Given the description of an element on the screen output the (x, y) to click on. 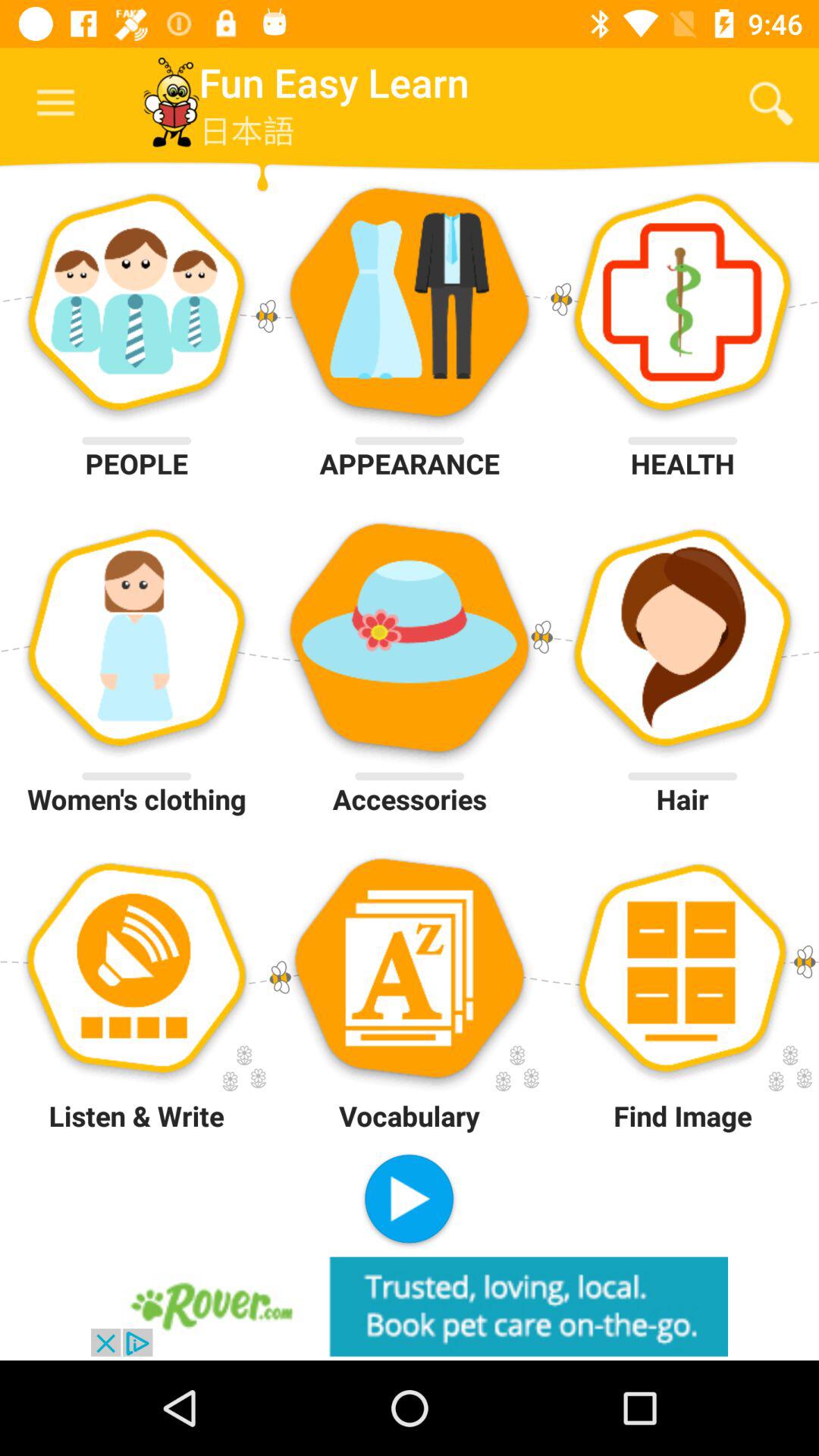
launch icon next to the find image icon (408, 1200)
